Given the description of an element on the screen output the (x, y) to click on. 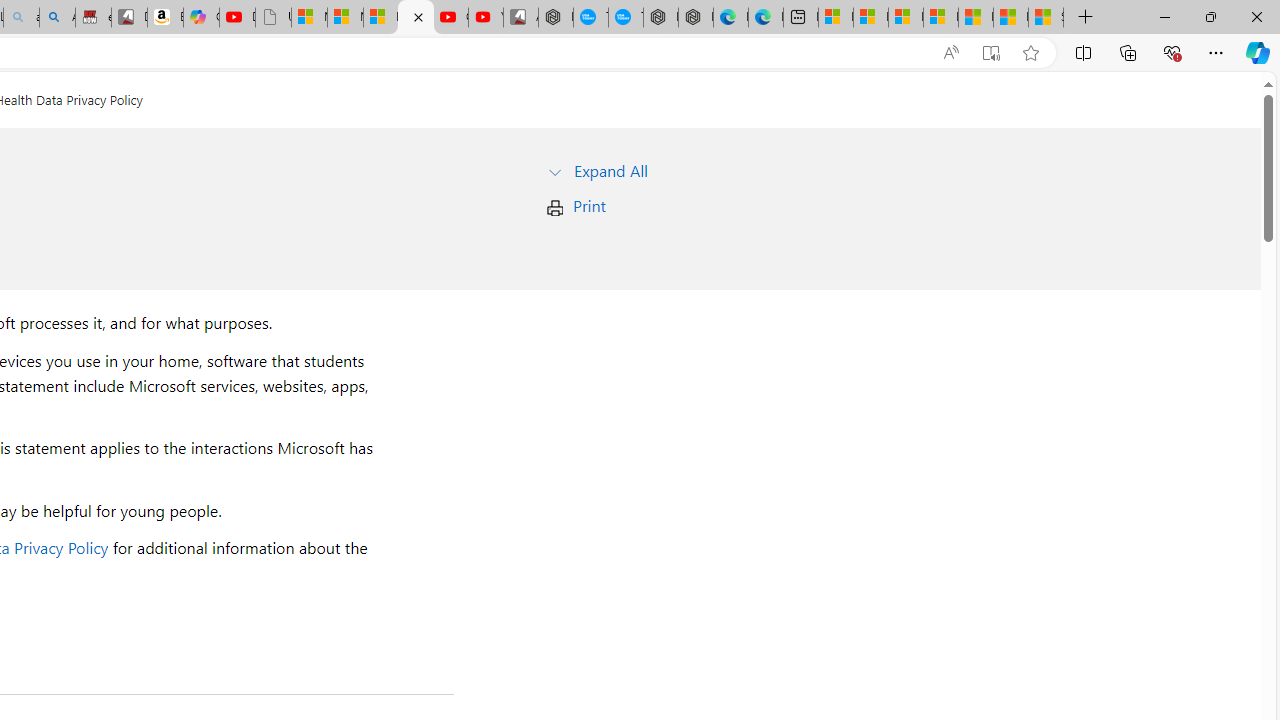
The most popular Google 'how to' searches (625, 17)
Microsoft account | Privacy (940, 17)
Gloom - YouTube (450, 17)
Amazon Echo Dot PNG - Search Images (57, 17)
Microsoft account | Microsoft Account Privacy Settings (870, 17)
Nordace - Nordace has arrived Hong Kong (695, 17)
All Cubot phones (520, 17)
